Given the description of an element on the screen output the (x, y) to click on. 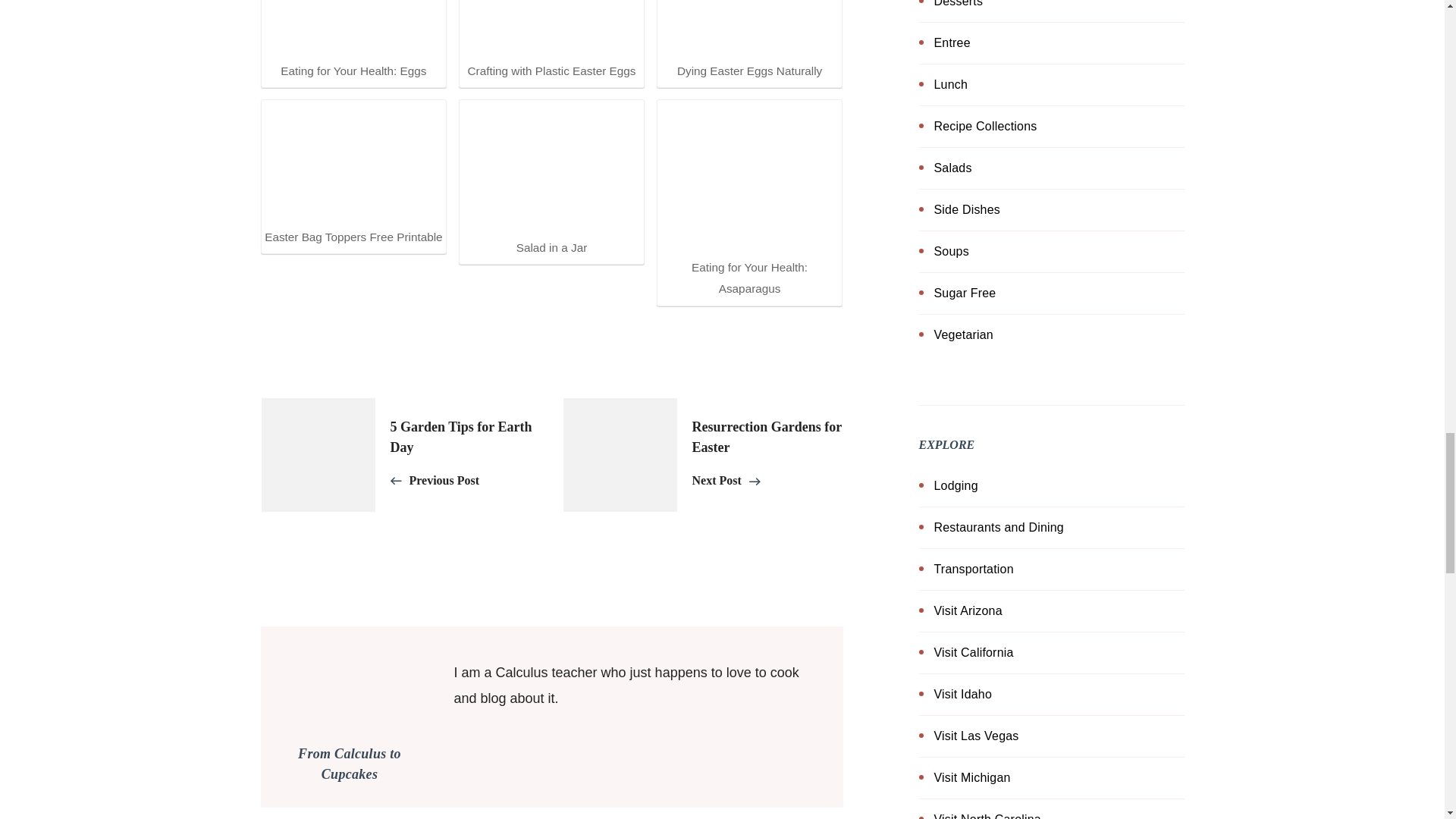
Crafting with Plastic Easter Eggs (551, 28)
Easter Bag Toppers Free Printable  (352, 162)
Salad in a Jar (550, 168)
Eating for Your Health:  Eggs (353, 28)
